Given the description of an element on the screen output the (x, y) to click on. 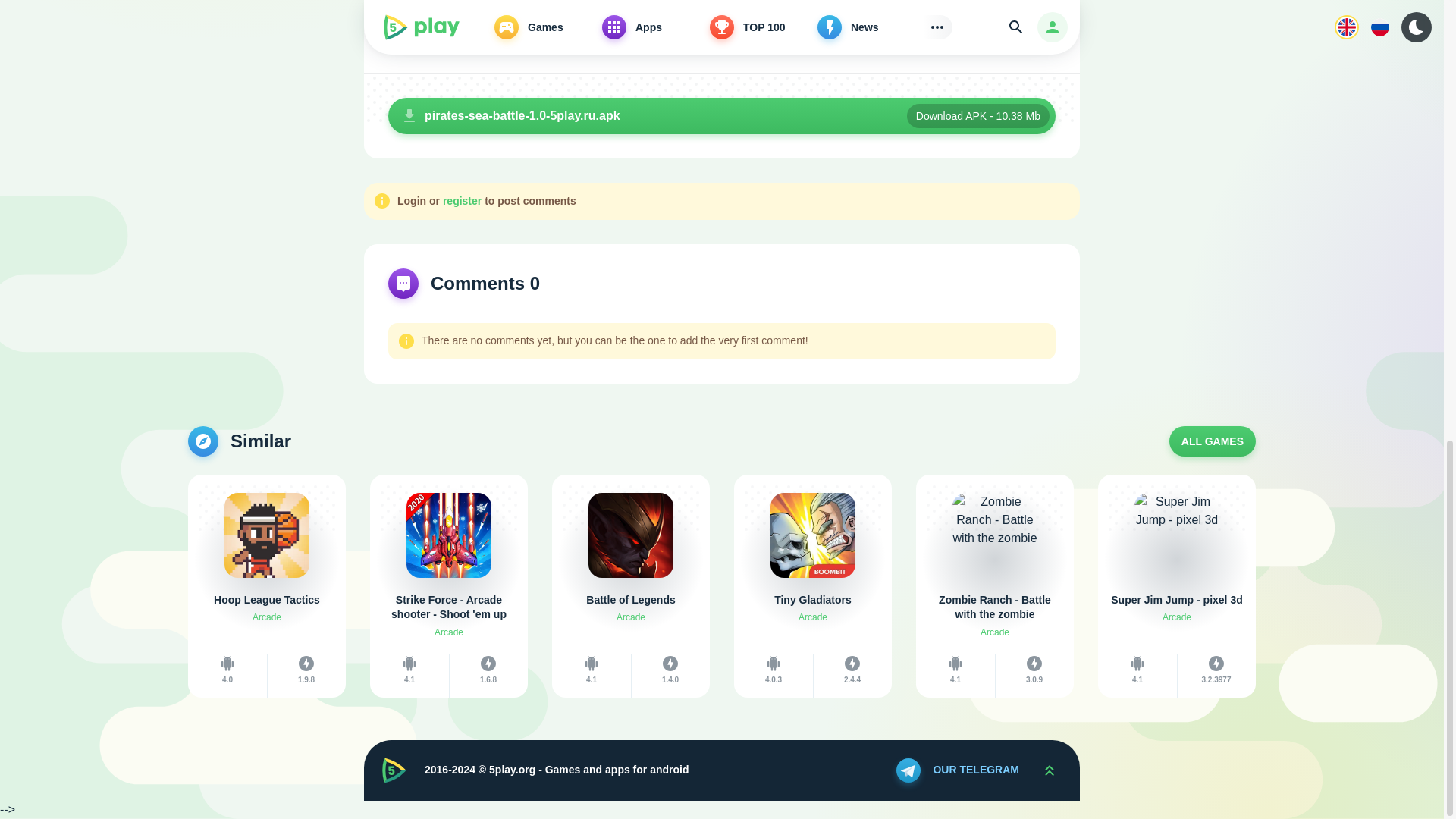
Scroll up (1048, 770)
5play (393, 770)
register (461, 200)
5play (393, 770)
